Given the description of an element on the screen output the (x, y) to click on. 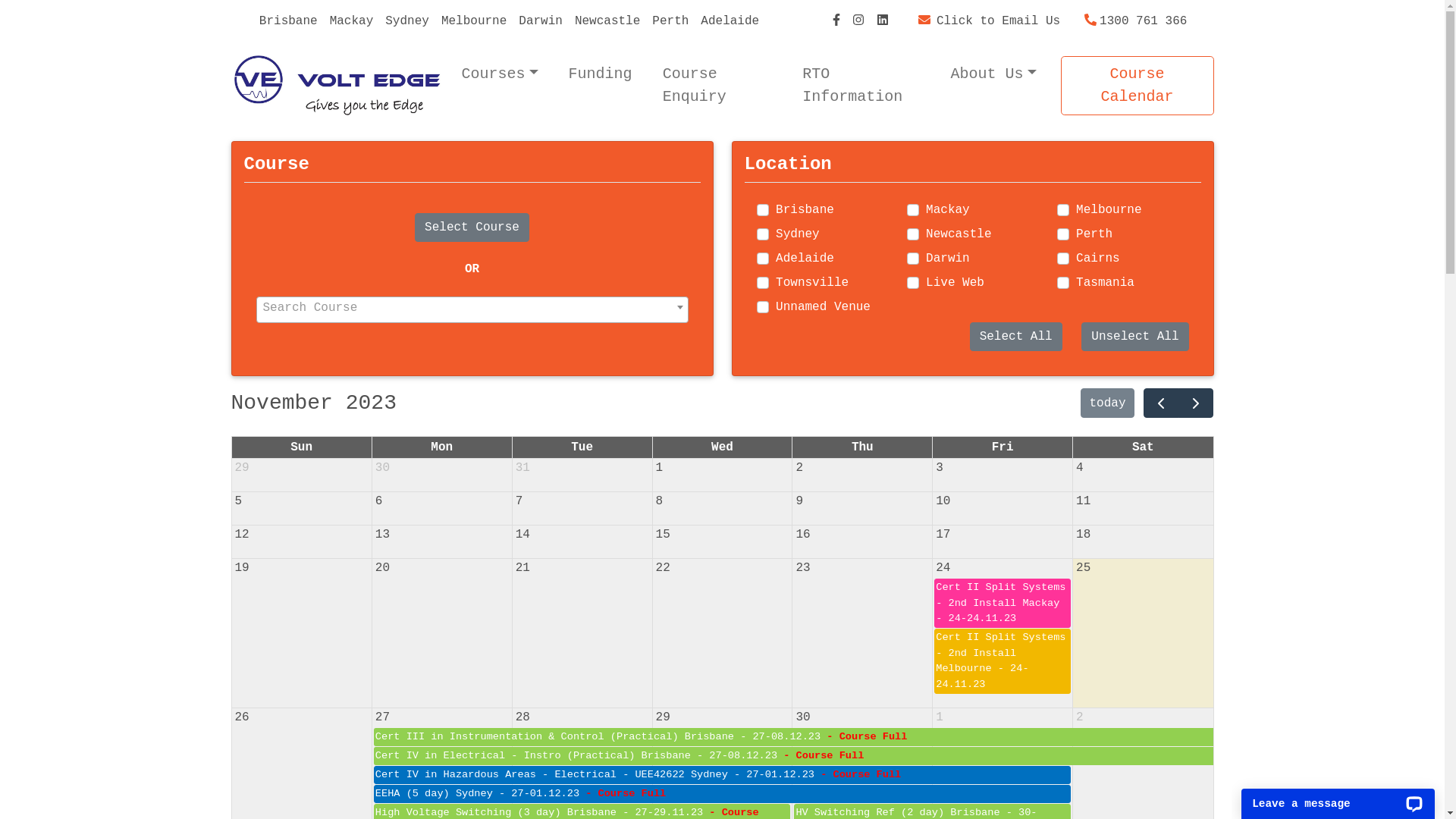
30 Element type: text (382, 467)
Darwin Element type: text (540, 21)
Select Course Element type: text (471, 227)
6 Element type: text (378, 501)
21 Element type: text (522, 567)
Sat Element type: text (1143, 447)
Wed Element type: text (722, 447)
29 Element type: text (242, 467)
25 Element type: text (1083, 567)
10 Element type: text (942, 501)
22 Element type: text (662, 567)
8 Element type: text (659, 501)
Tue Element type: text (581, 447)
12 Element type: text (242, 534)
2 Element type: text (1079, 717)
9 Element type: text (799, 501)
Fri Element type: text (1002, 447)
14 Element type: text (522, 534)
20 Element type: text (382, 567)
Funding Element type: text (600, 73)
Click to Email Us Element type: text (989, 21)
Courses Element type: text (499, 73)
29 Element type: text (662, 717)
11 Element type: text (1083, 501)
3 Element type: text (939, 467)
31 Element type: text (522, 467)
Unselect All Element type: text (1134, 336)
5 Element type: text (238, 501)
16 Element type: text (802, 534)
Adelaide Element type: text (729, 21)
Cert II Split Systems - 2nd Install Mackay - 24-24.11.23 Element type: text (1002, 602)
1300 761 366 Element type: text (1135, 21)
EEHA (5 day) Sydney - 27-01.12.23 - Course Full Element type: text (721, 793)
19 Element type: text (242, 567)
15 Element type: text (662, 534)
30 Element type: text (802, 717)
17 Element type: text (942, 534)
Sydney Element type: text (407, 21)
Cert II Split Systems - 2nd Install Melbourne - 24-24.11.23 Element type: text (1002, 660)
Course Enquiry Element type: text (717, 85)
About Us Element type: text (993, 73)
Mon Element type: text (441, 447)
24 Element type: text (942, 567)
23 Element type: text (802, 567)
Brisbane Element type: text (288, 21)
Melbourne Element type: text (473, 21)
Thu Element type: text (862, 447)
28 Element type: text (522, 717)
today Element type: text (1107, 402)
2 Element type: text (799, 467)
1 Element type: text (939, 717)
Select All Element type: text (1015, 336)
Mackay Element type: text (351, 21)
RTO Information Element type: text (860, 85)
Sun Element type: text (301, 447)
18 Element type: text (1083, 534)
1 Element type: text (659, 467)
Newcastle Element type: text (607, 21)
4 Element type: text (1079, 467)
27 Element type: text (382, 717)
Course Calendar Element type: text (1137, 85)
Perth Element type: text (670, 21)
13 Element type: text (382, 534)
26 Element type: text (242, 717)
7 Element type: text (519, 501)
